Given the description of an element on the screen output the (x, y) to click on. 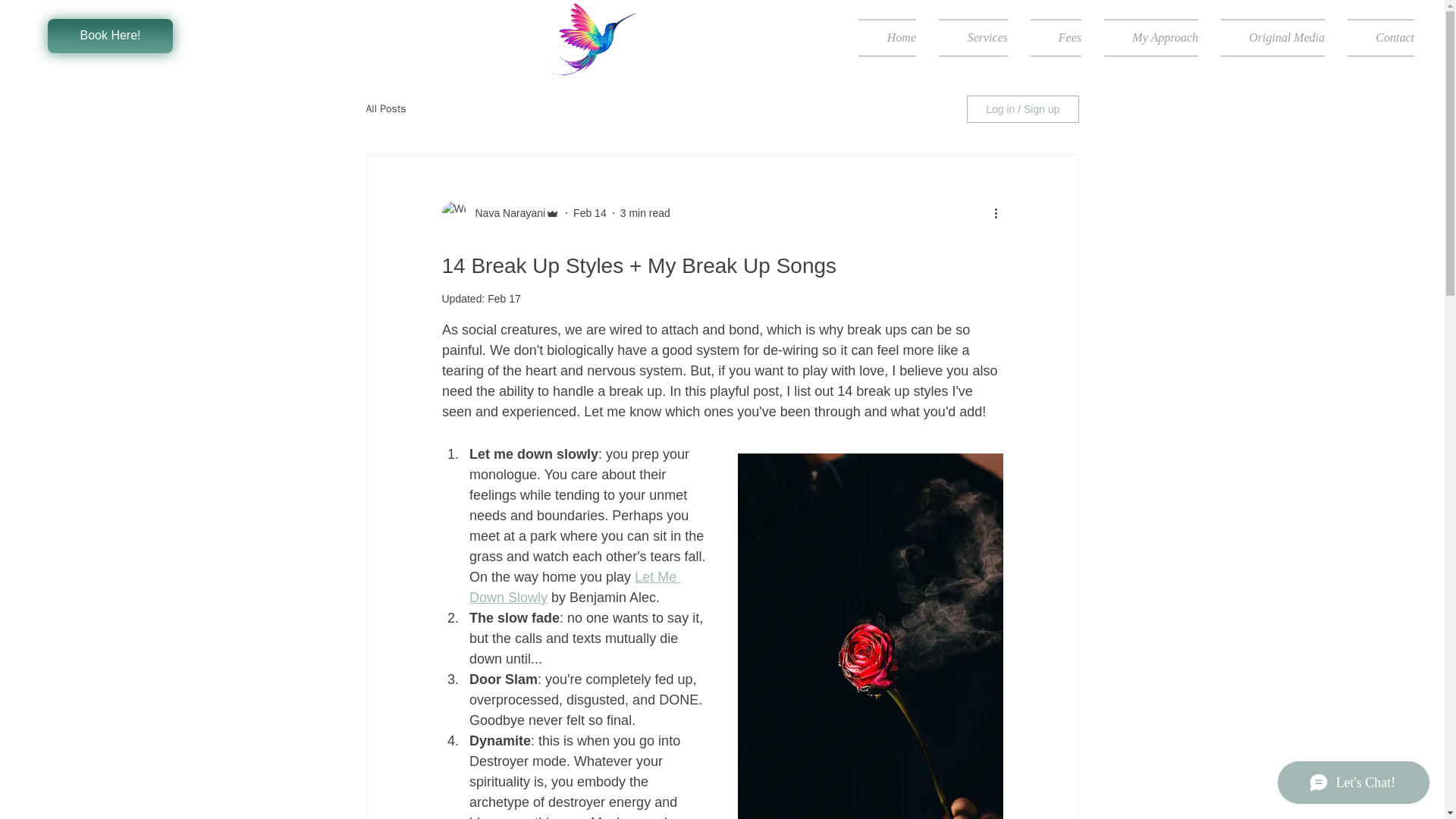
My Approach (1151, 37)
Nava Narayani (504, 212)
Let Me Down Slowly (573, 587)
Fees (1056, 37)
Feb 17 (504, 298)
All Posts (385, 109)
3 min read (644, 212)
Contact (1374, 37)
Feb 14 (590, 212)
Original Media (1272, 37)
